Given the description of an element on the screen output the (x, y) to click on. 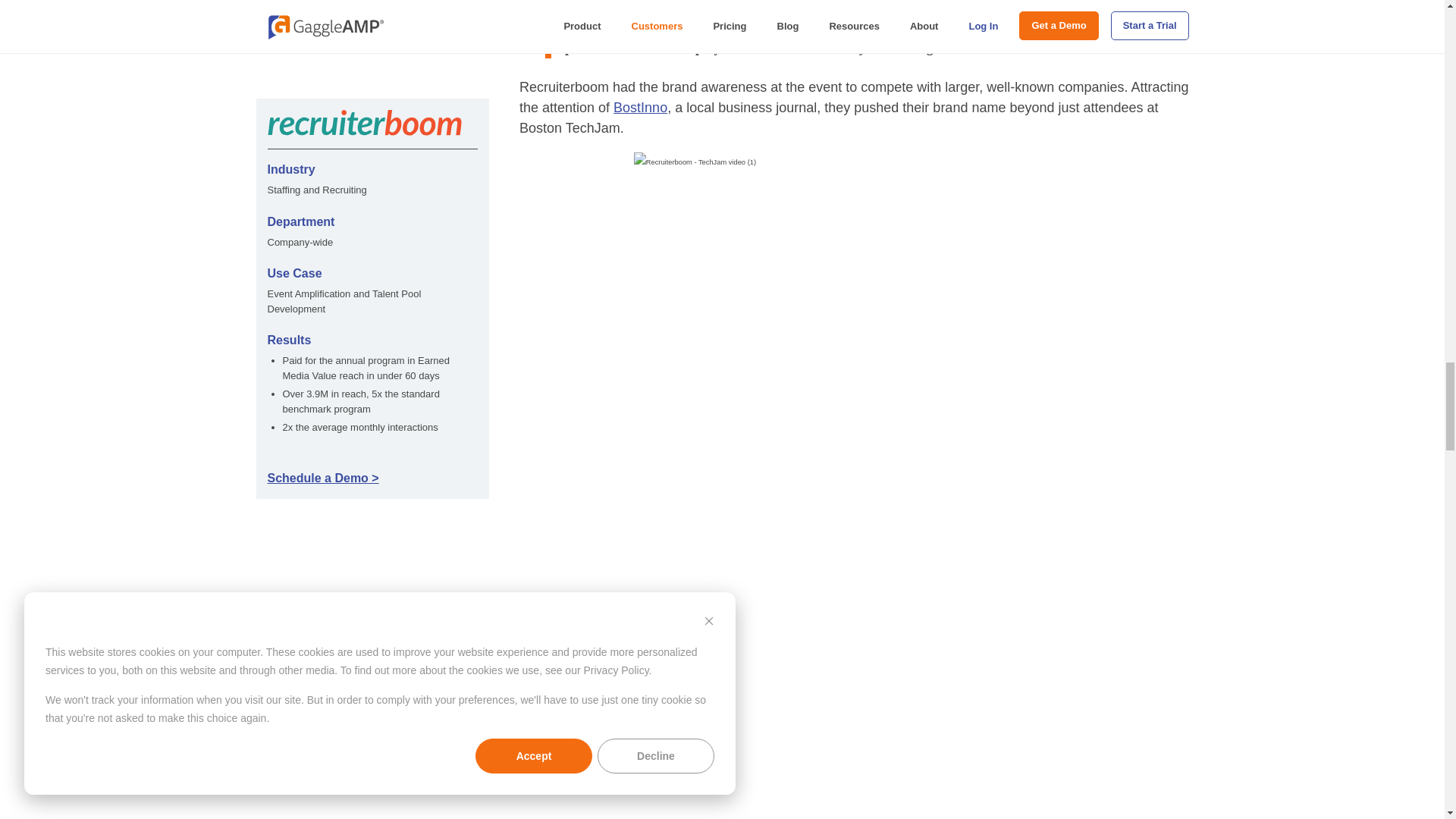
BostInno (639, 107)
